Given the description of an element on the screen output the (x, y) to click on. 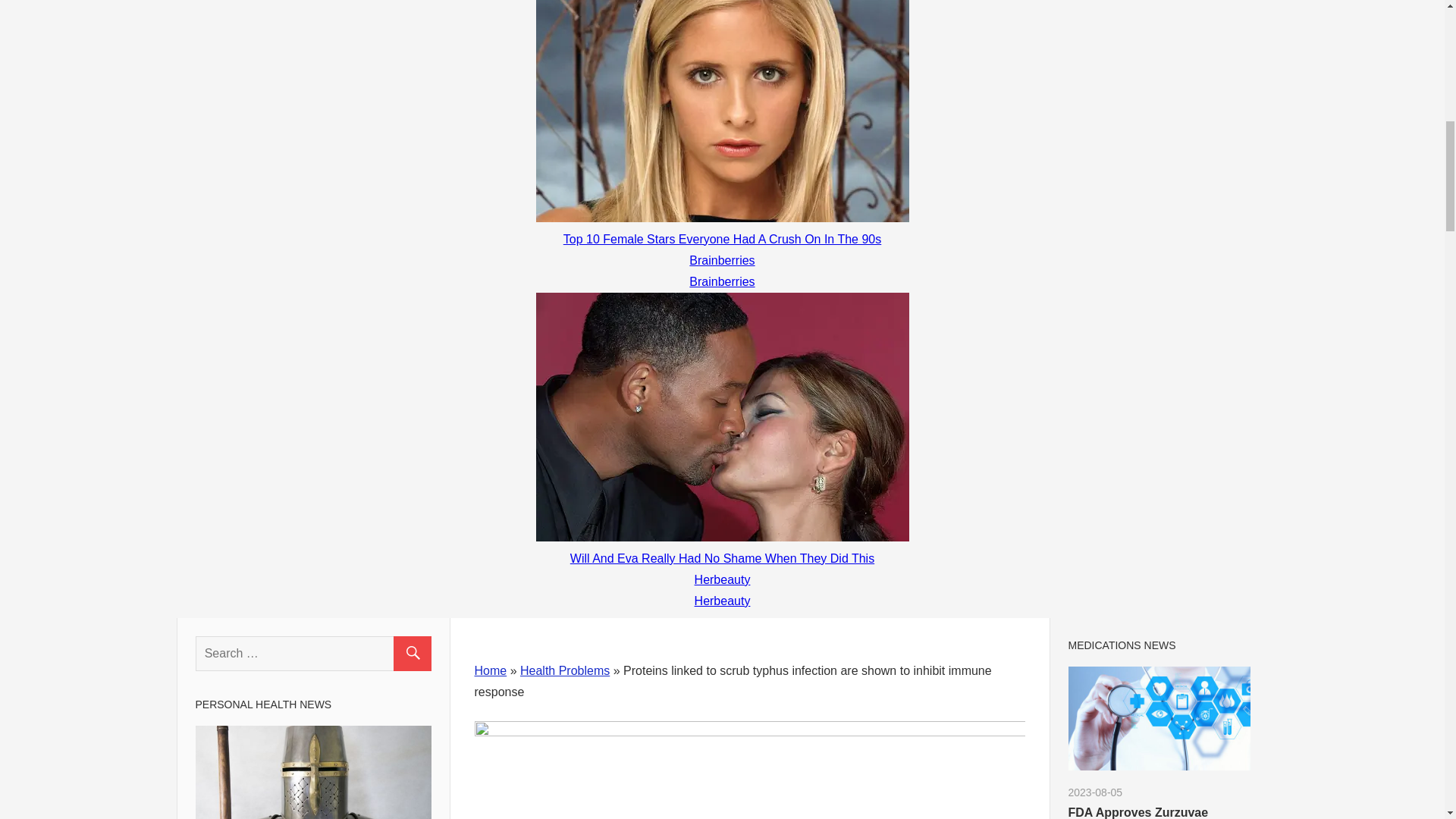
View all posts from category Medications (1120, 644)
Home (490, 670)
View all posts from category Personal Health (263, 703)
01:30 (1094, 792)
Search for: (312, 652)
Health Problems (564, 670)
PERSONAL HEALTH NEWS (263, 703)
